Given the description of an element on the screen output the (x, y) to click on. 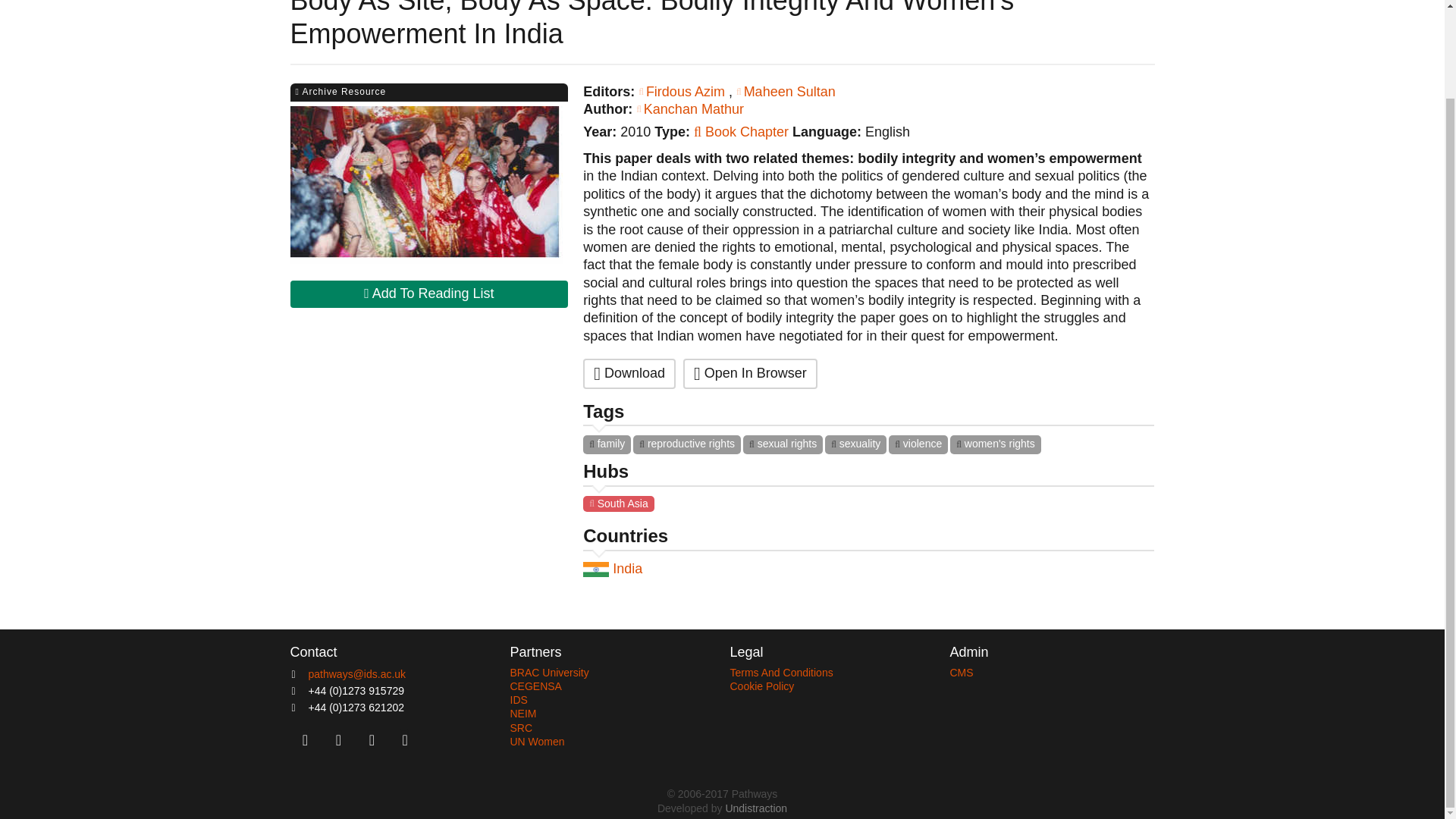
Add To Reading List (428, 293)
sexuality (855, 443)
women's rights (995, 443)
Maheen Sultan (785, 91)
India (647, 569)
Open In Browser (749, 373)
Book Chapter (741, 131)
family (606, 443)
reproductive rights (687, 443)
sexual rights (782, 443)
